Given the description of an element on the screen output the (x, y) to click on. 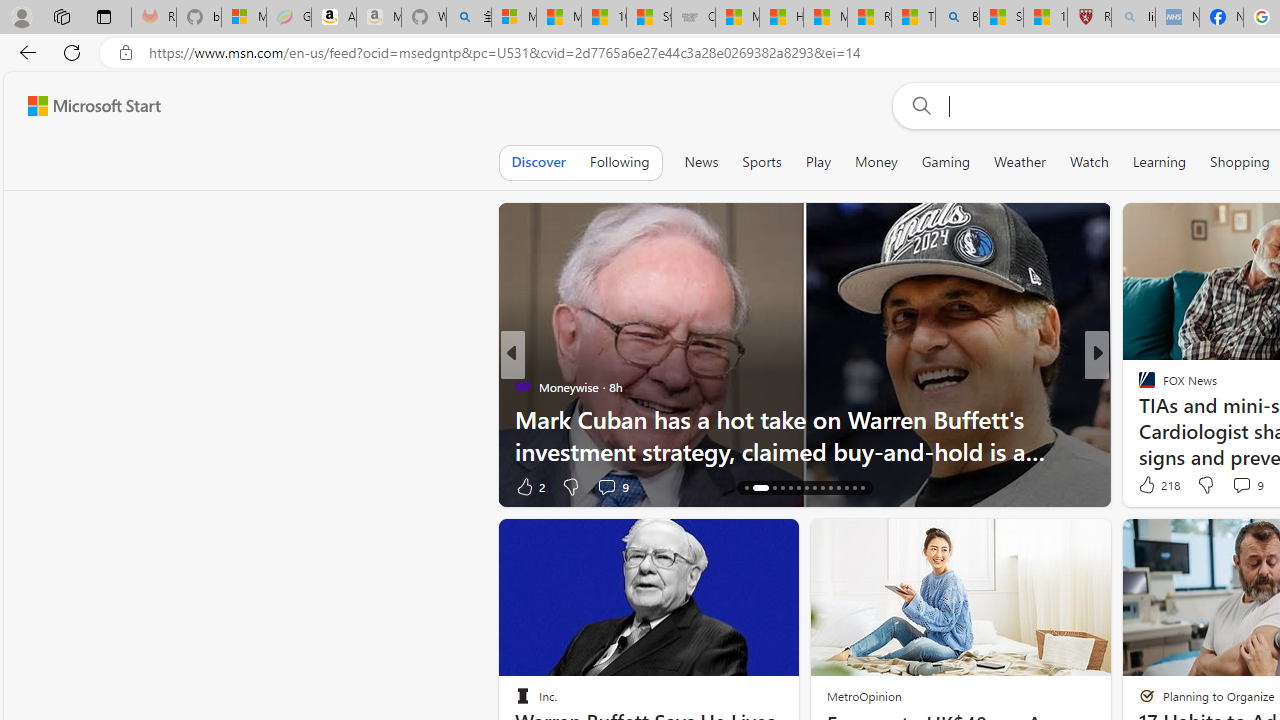
4 Like (1145, 486)
AutomationID: tab-18 (782, 487)
67 Like (1149, 486)
419 Like (1151, 486)
View comments 167 Comment (1234, 485)
